Given the description of an element on the screen output the (x, y) to click on. 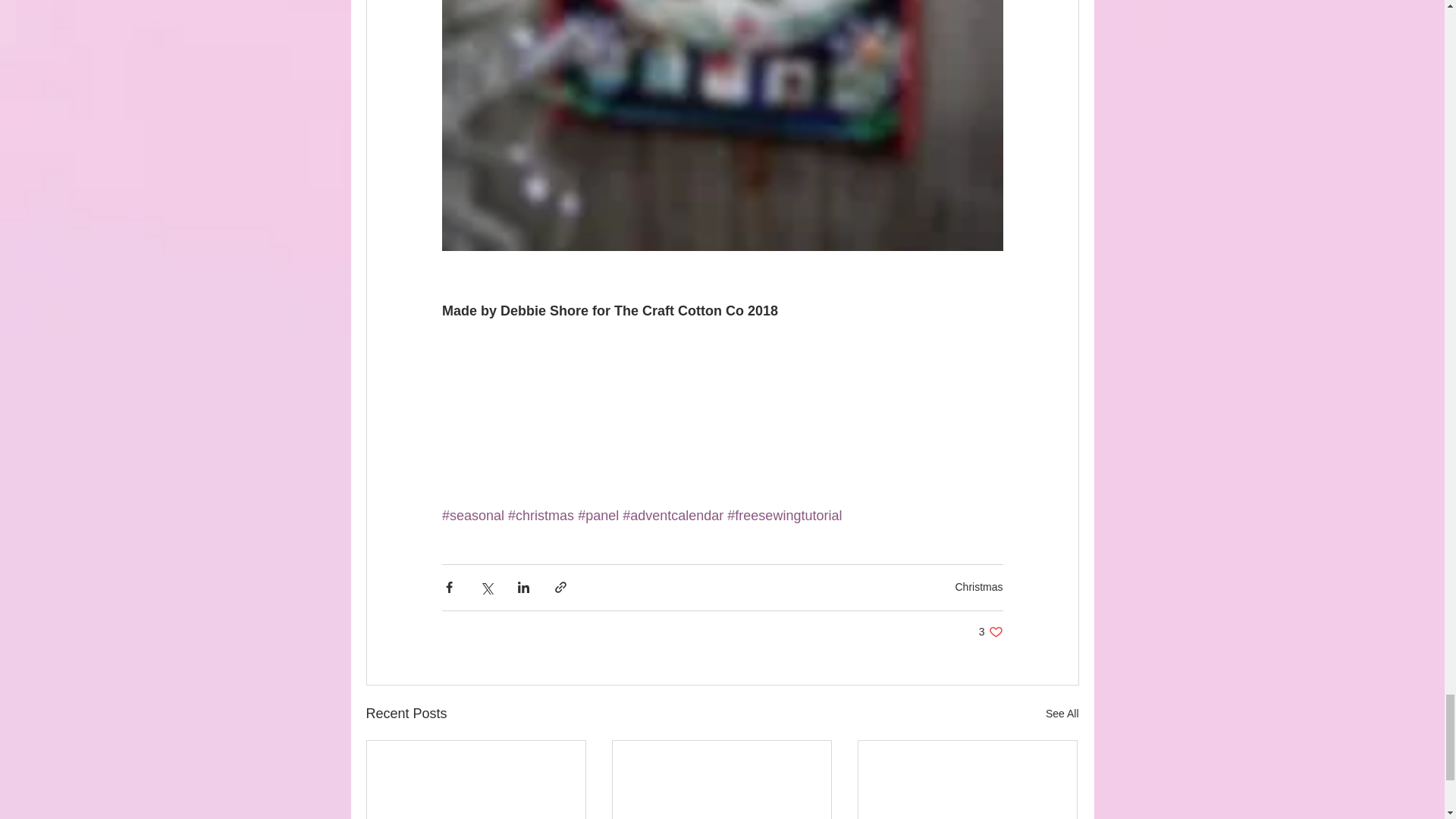
See All (990, 631)
Christmas (1061, 713)
